Given the description of an element on the screen output the (x, y) to click on. 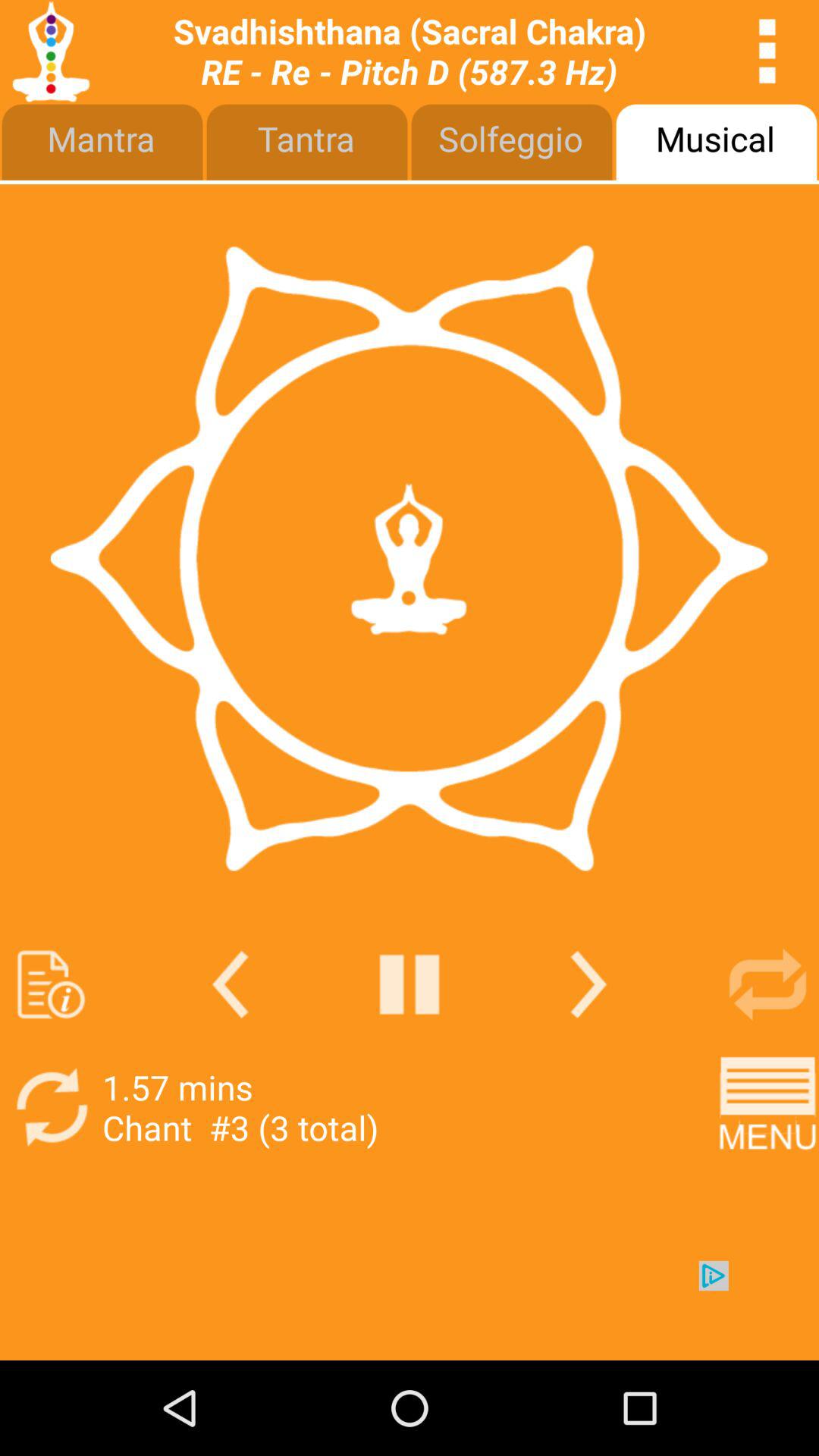
pause sound (409, 984)
